Given the description of an element on the screen output the (x, y) to click on. 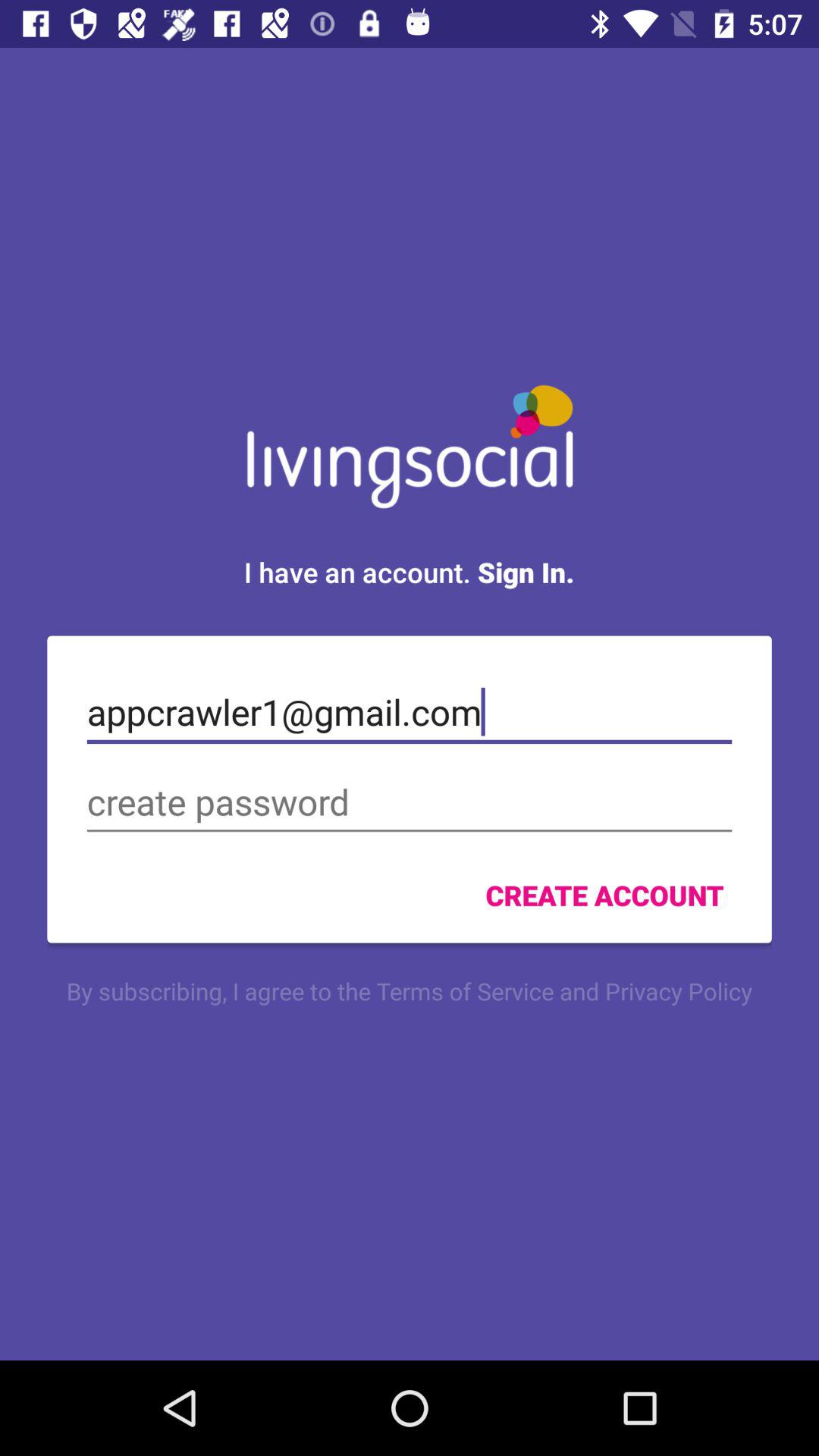
turn off the item above the appcrawler1@gmail.com (409, 571)
